Given the description of an element on the screen output the (x, y) to click on. 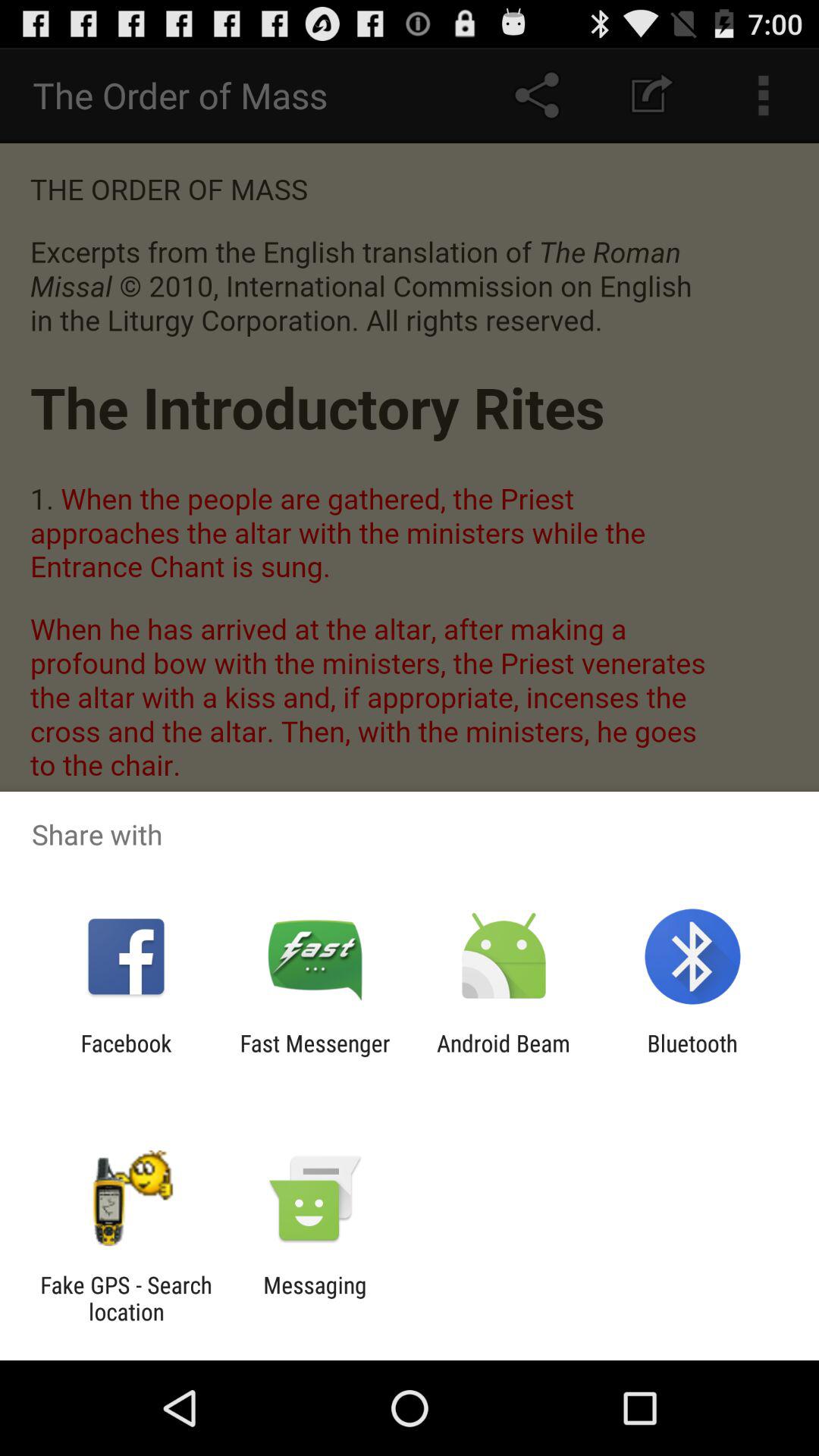
press the item next to the android beam app (692, 1056)
